Given the description of an element on the screen output the (x, y) to click on. 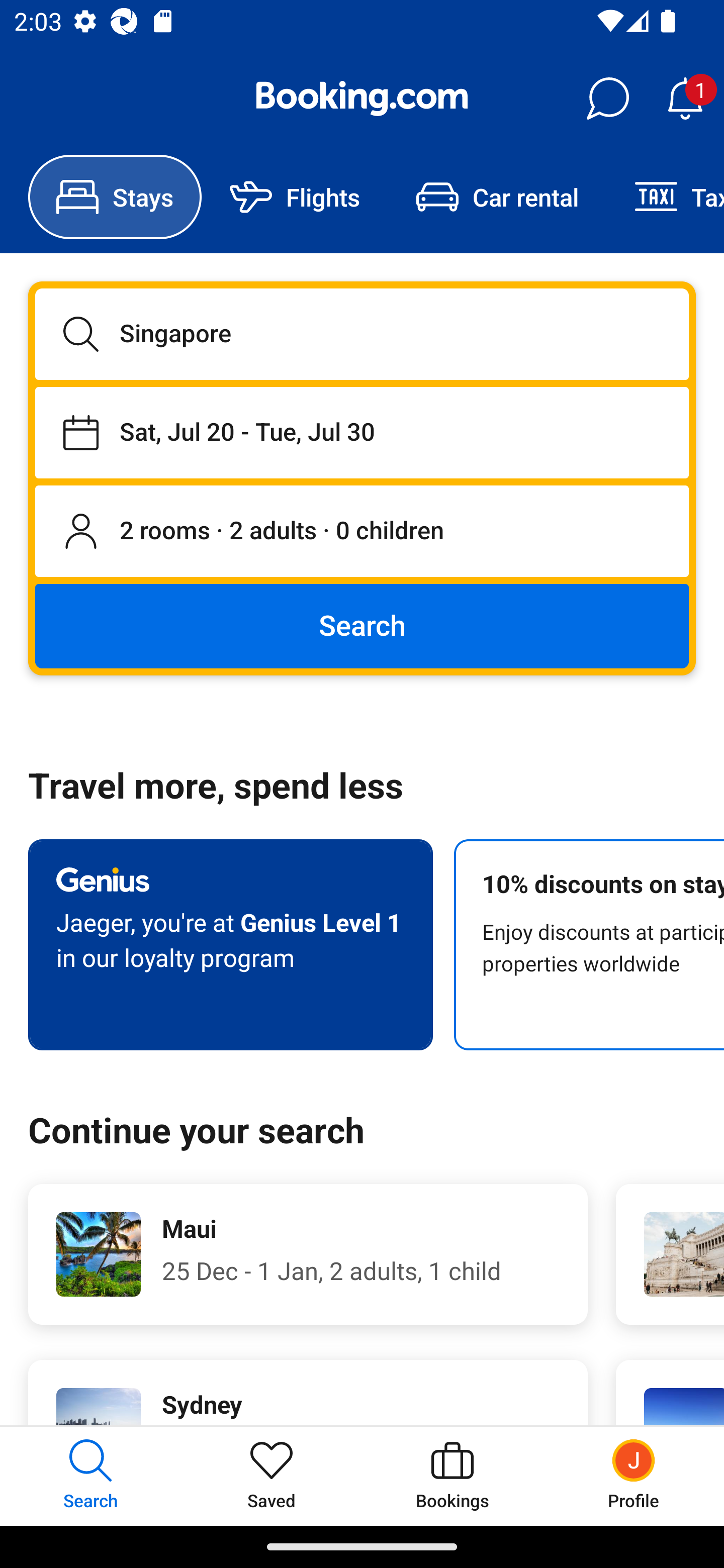
Messages (607, 98)
Notifications (685, 98)
Stays (114, 197)
Flights (294, 197)
Car rental (497, 197)
Taxi (665, 197)
Singapore (361, 333)
Staying from Sat, Jul 20 until Tue, Jul 30 (361, 432)
2 rooms, 2 adults, 0 children (361, 531)
Search (361, 625)
Maui 25 Dec - 1 Jan, 2 adults, 1 child (307, 1253)
Saved (271, 1475)
Bookings (452, 1475)
Profile (633, 1475)
